Given the description of an element on the screen output the (x, y) to click on. 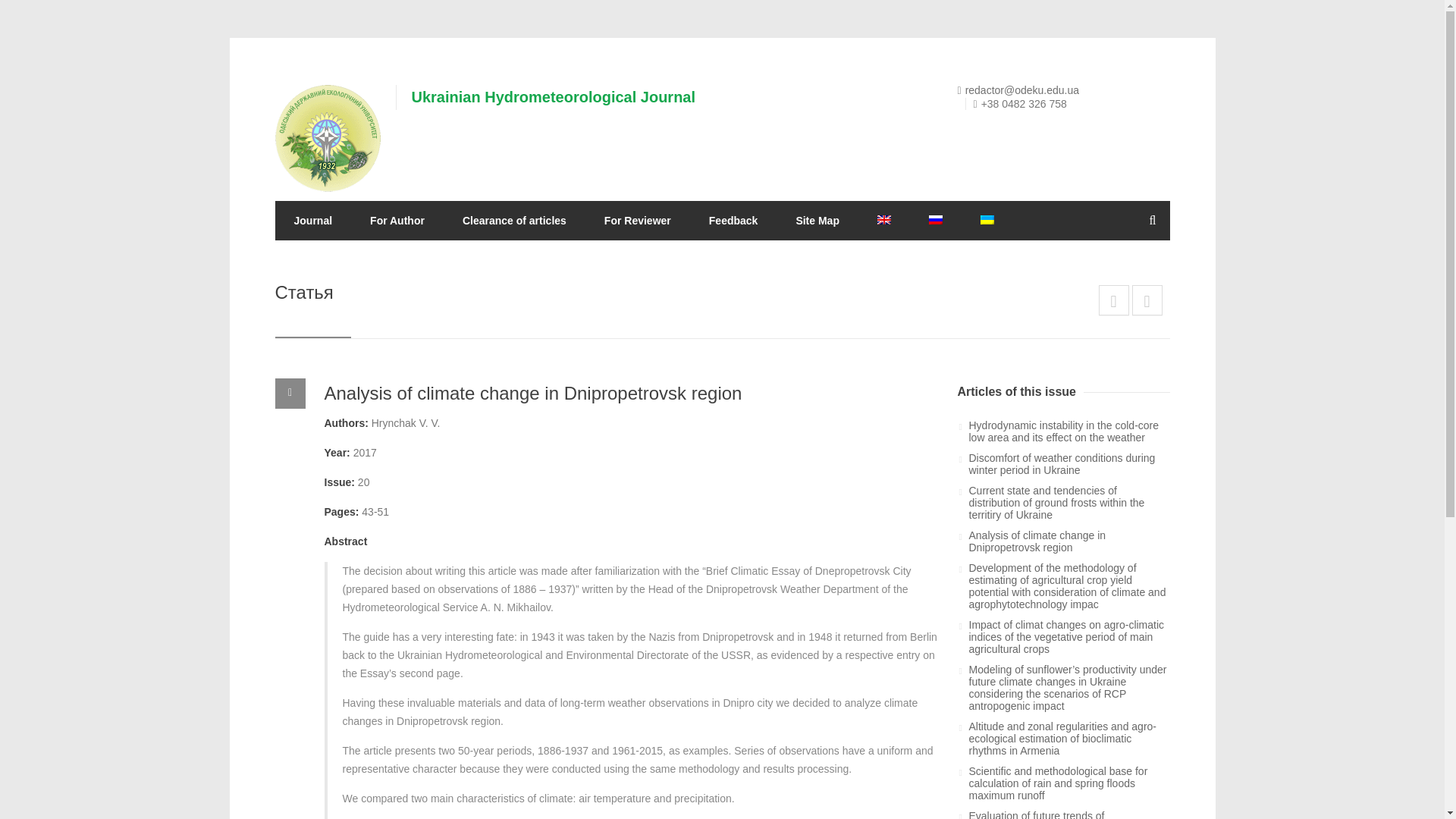
For Author (397, 220)
Feedback (733, 220)
For Reviewer (637, 220)
Site Map (817, 220)
Ukrainian (986, 220)
